Given the description of an element on the screen output the (x, y) to click on. 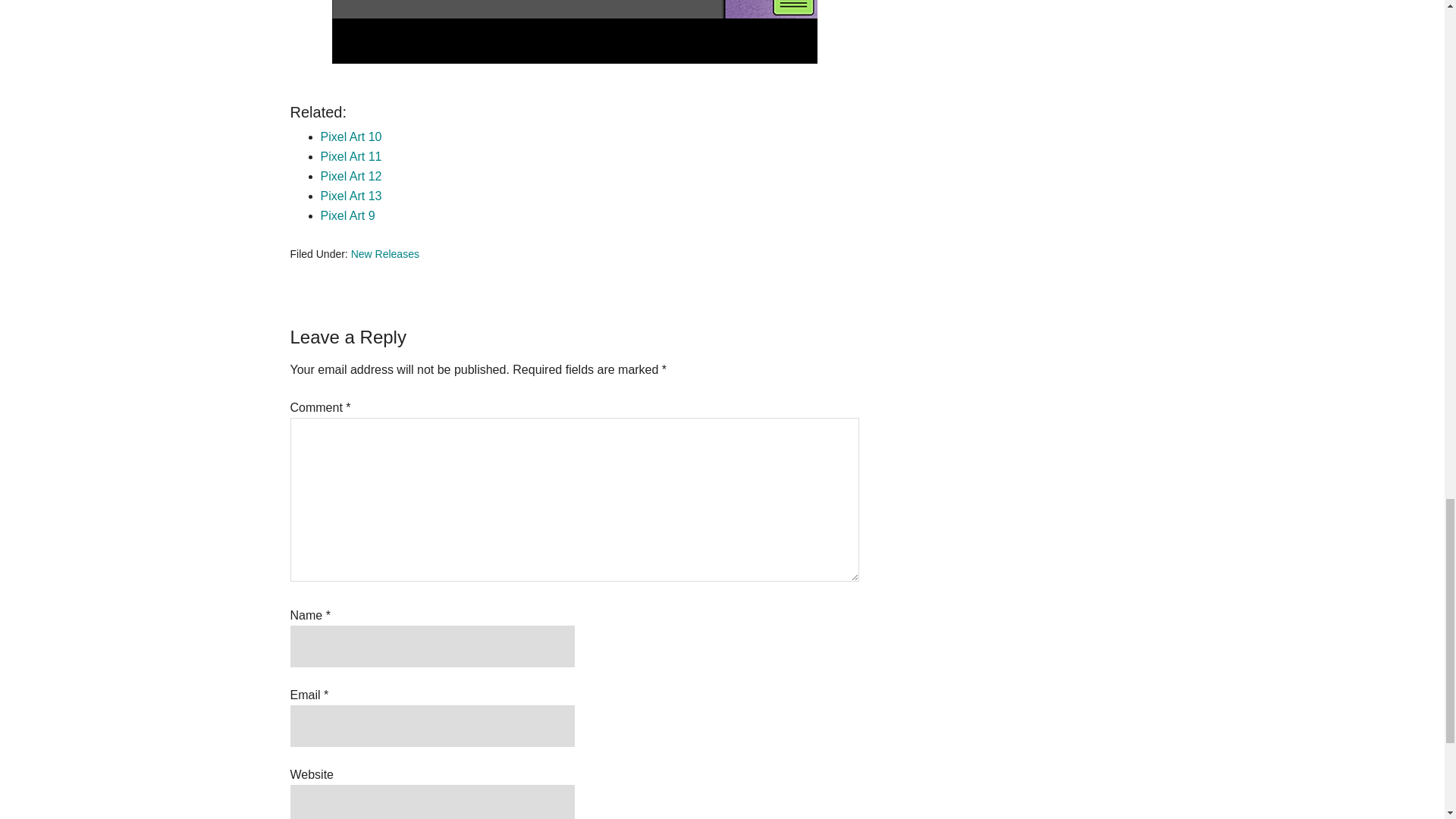
Pixel Art 13 (350, 195)
Pixel Art 11 (350, 155)
Pixel Art 12 (350, 175)
Pixel Art 10 (350, 136)
Pixel Art 13 (350, 195)
Pixel Art 12 (350, 175)
Pixel Art 9 (347, 215)
Pixel Art 11 (350, 155)
New Releases (384, 254)
Pixel Art 9 (347, 215)
Pixel Art 10 (350, 136)
